Given the description of an element on the screen output the (x, y) to click on. 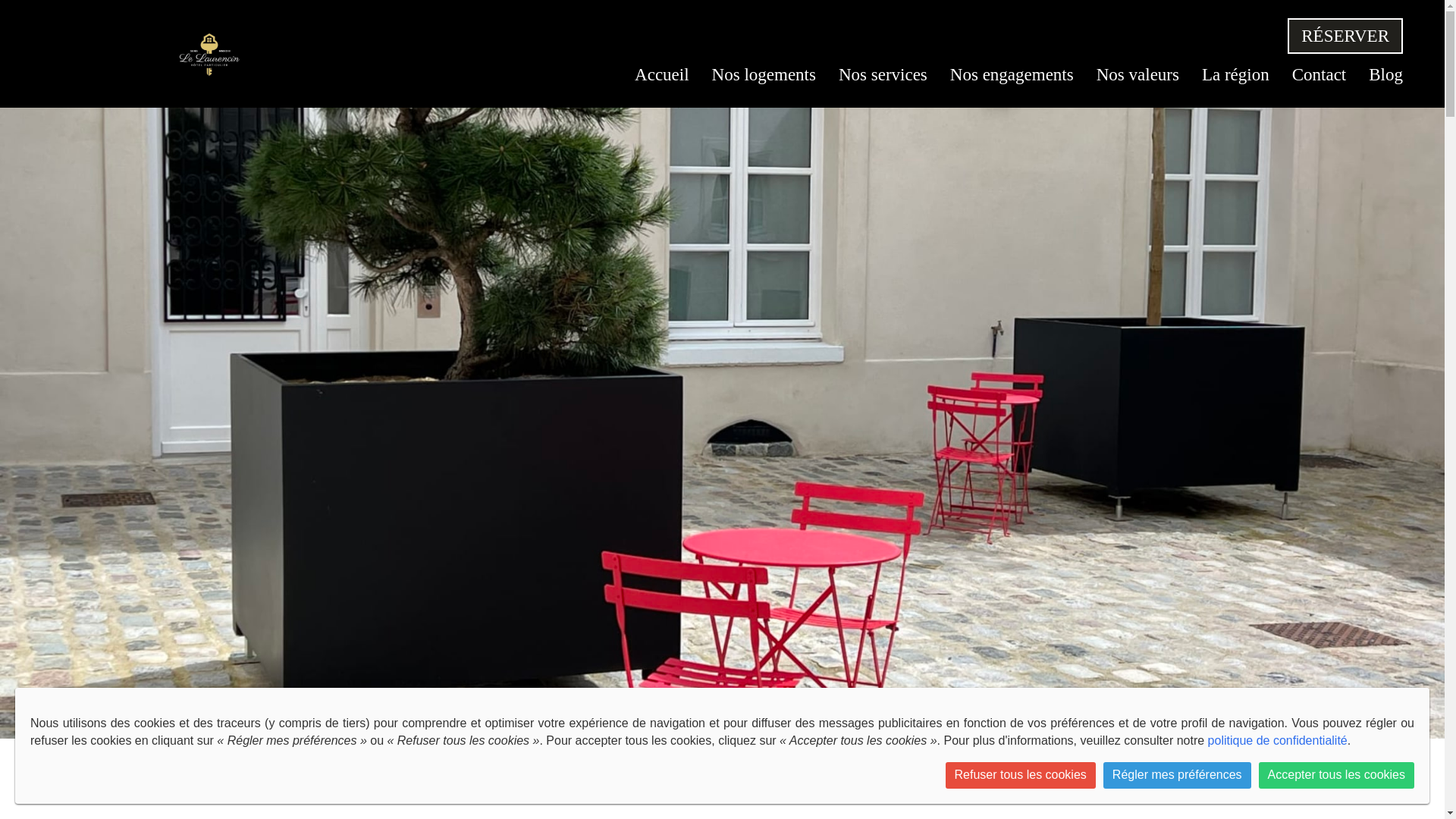
Nos logements (763, 74)
Contact (1319, 74)
Nos services (882, 74)
Nos engagements (1012, 74)
Blog (1385, 74)
Rechercher (1043, 736)
Nos valeurs (1137, 74)
Accueil (661, 74)
